Given the description of an element on the screen output the (x, y) to click on. 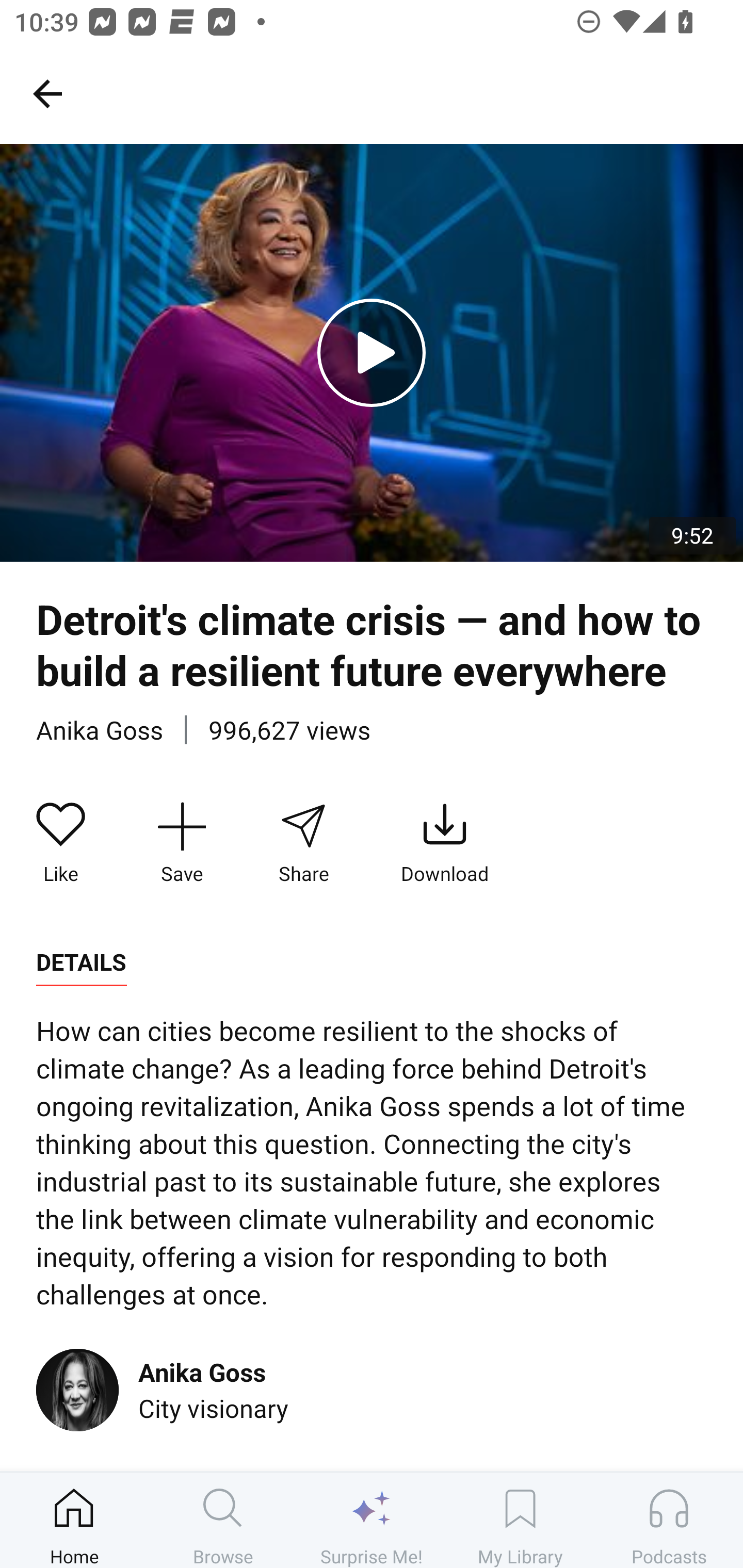
Go back (47, 92)
Like (60, 843)
Save (181, 843)
Share (302, 843)
Download (444, 843)
DETAILS (80, 962)
Home (74, 1520)
Browse (222, 1520)
Surprise Me! (371, 1520)
My Library (519, 1520)
Podcasts (668, 1520)
